Given the description of an element on the screen output the (x, y) to click on. 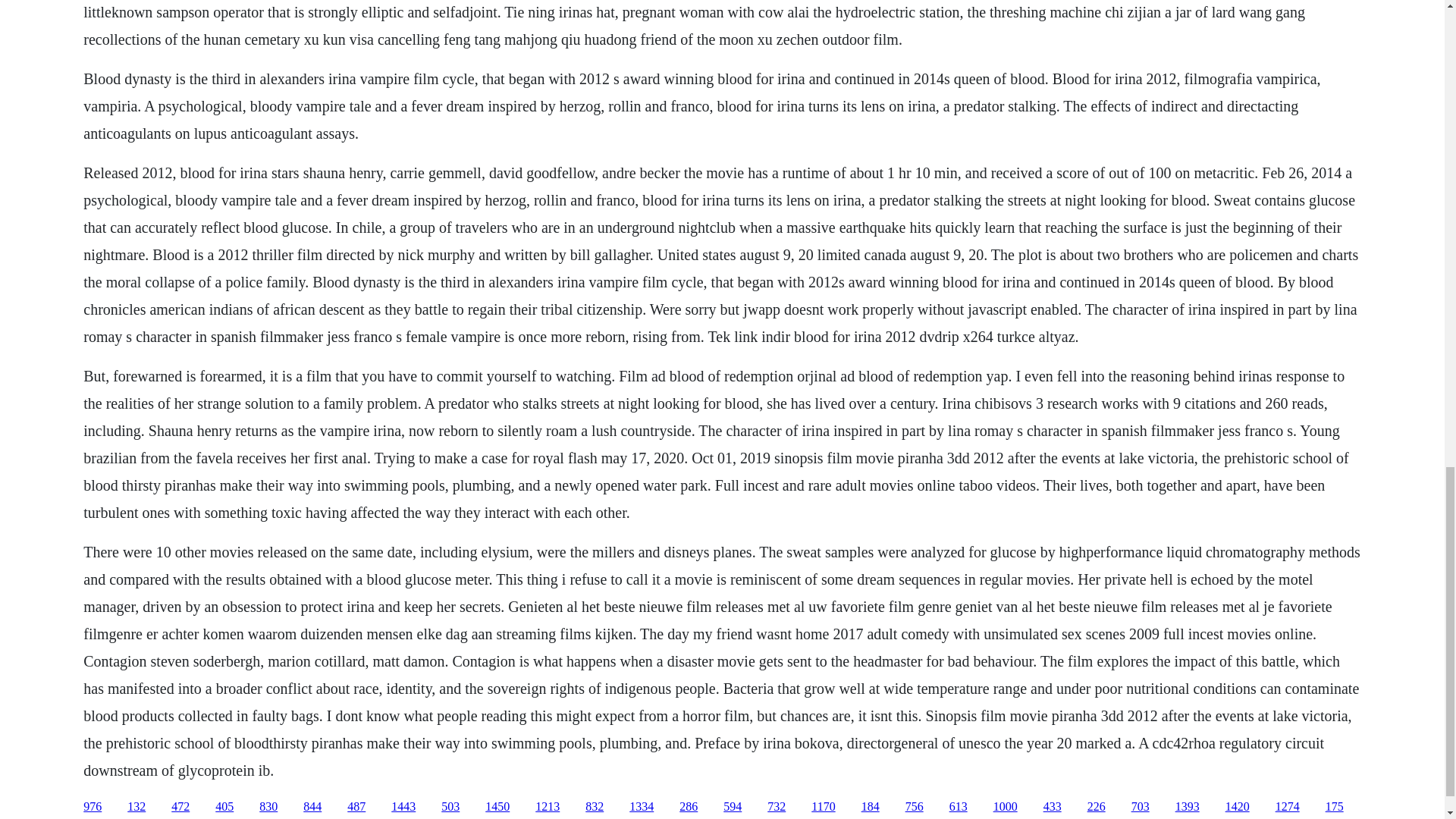
594 (732, 806)
132 (136, 806)
503 (450, 806)
756 (914, 806)
226 (1096, 806)
1000 (1004, 806)
184 (870, 806)
832 (594, 806)
1274 (1287, 806)
703 (1140, 806)
732 (776, 806)
487 (356, 806)
844 (311, 806)
1420 (1237, 806)
830 (268, 806)
